Given the description of an element on the screen output the (x, y) to click on. 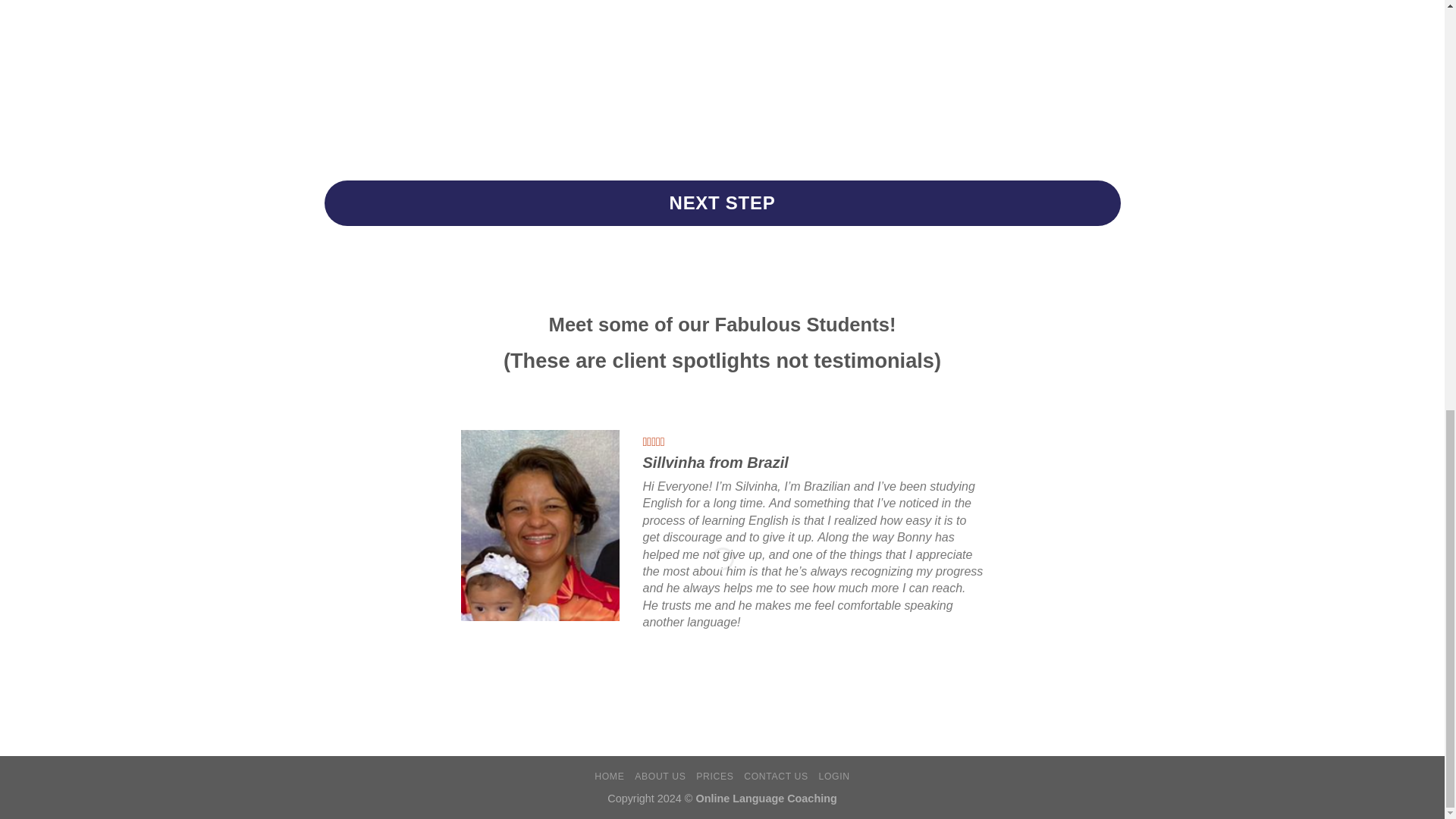
ABOUT US (659, 776)
CONTACT US (776, 776)
NEXT STEP (722, 203)
PRICES (714, 776)
LOGIN (834, 776)
HOME (609, 776)
